Given the description of an element on the screen output the (x, y) to click on. 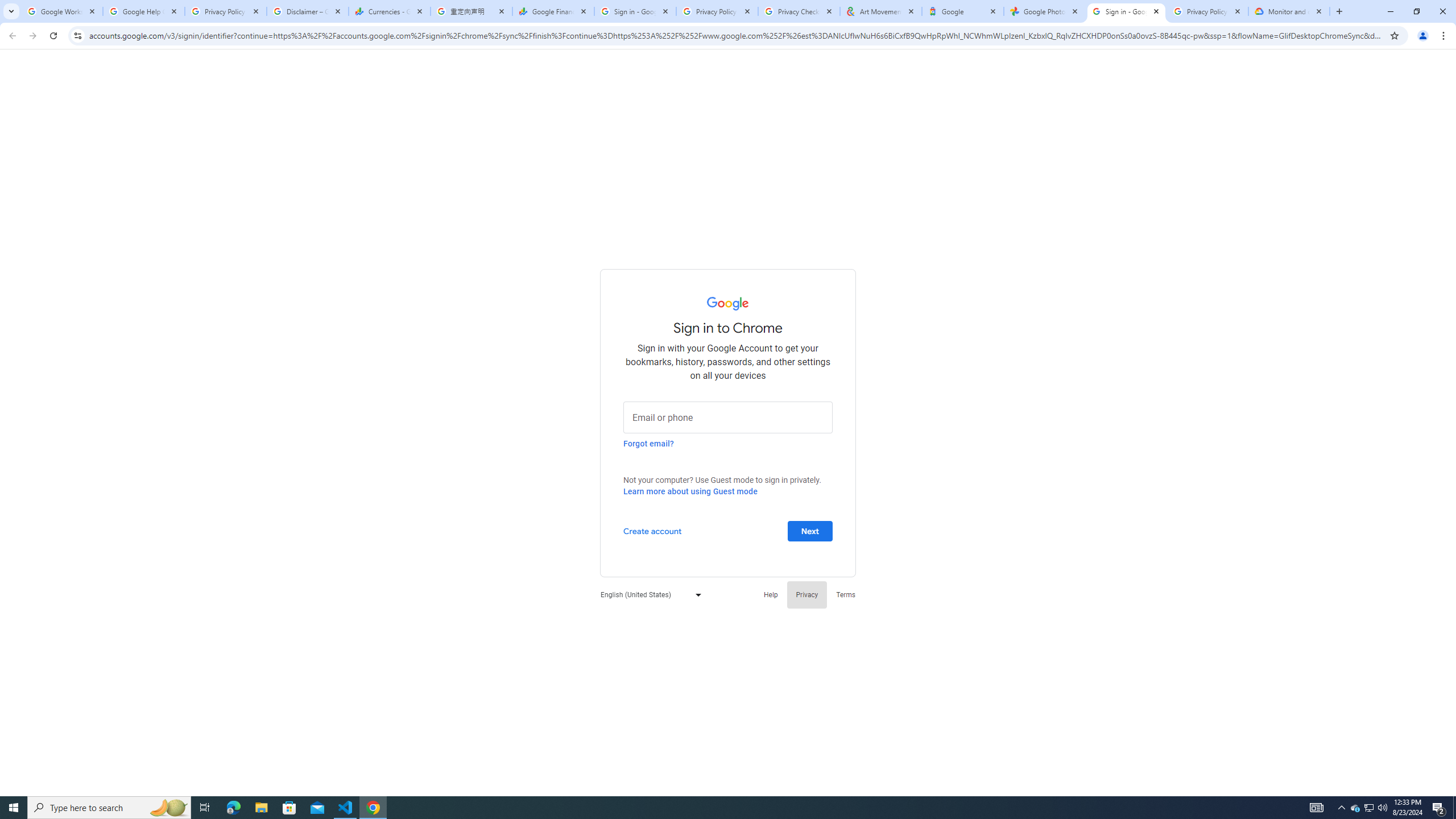
Sign in - Google Accounts (635, 11)
English (United States) (647, 594)
Google (963, 11)
Google Workspace Admin Community (61, 11)
